Given the description of an element on the screen output the (x, y) to click on. 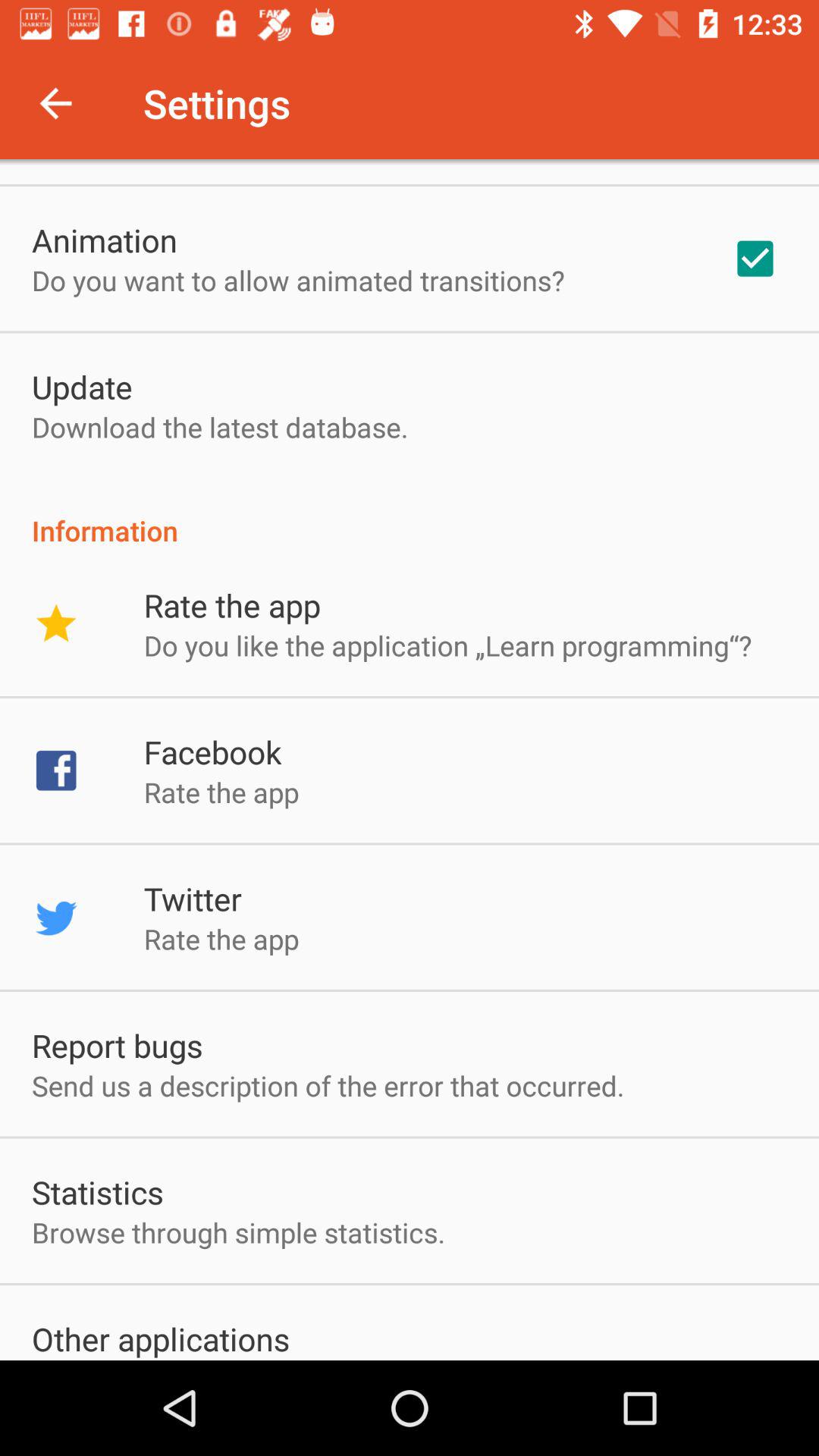
launch icon at the top right corner (755, 258)
